Given the description of an element on the screen output the (x, y) to click on. 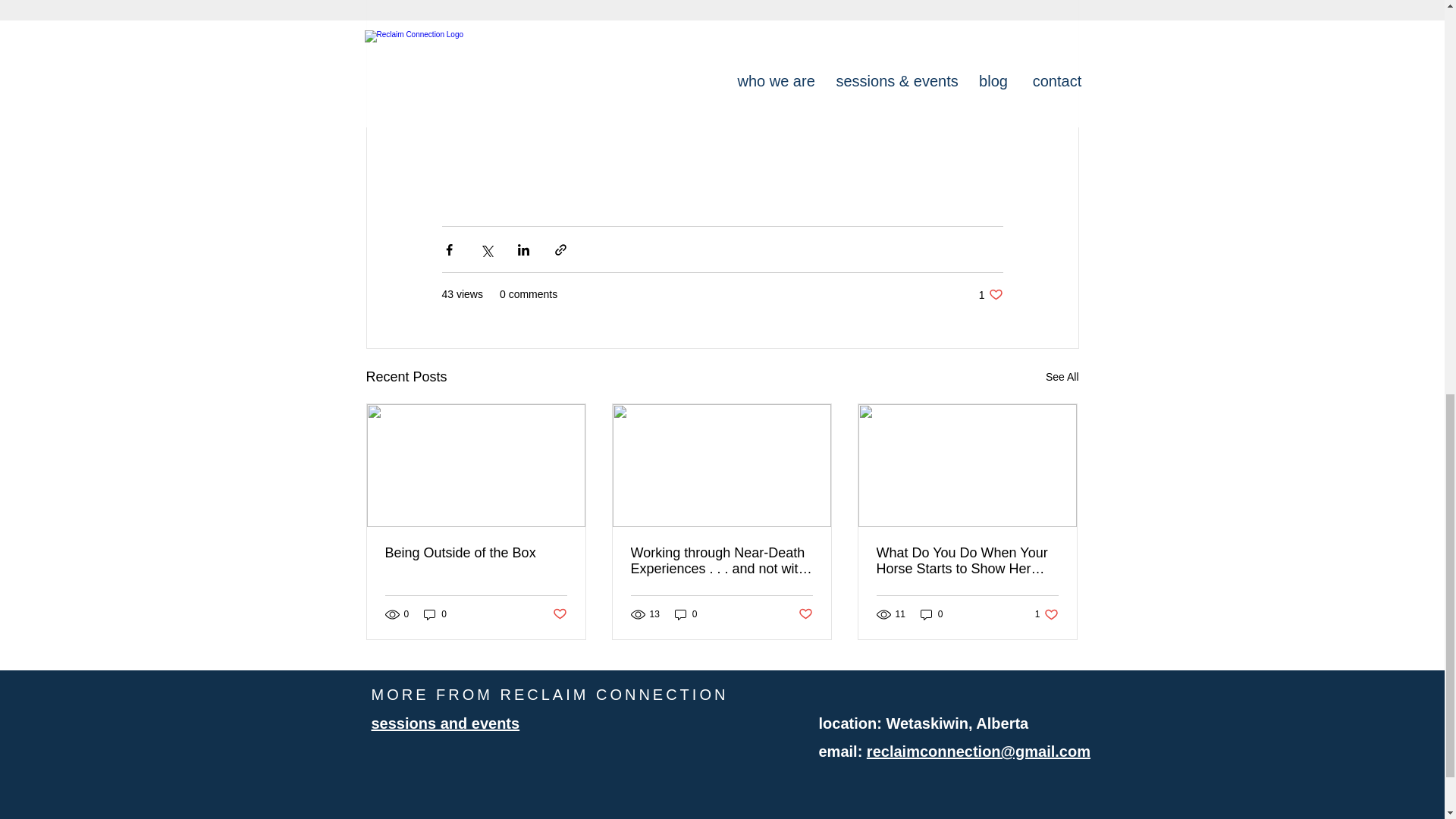
See All (1061, 377)
Post not marked as liked (558, 614)
Post not marked as liked (990, 294)
What Do You Do When Your Horse Starts to Show Her Age? (804, 614)
sessions and events (967, 561)
0 (445, 723)
0 (685, 614)
Being Outside of the Box (931, 614)
0 (476, 553)
